Given the description of an element on the screen output the (x, y) to click on. 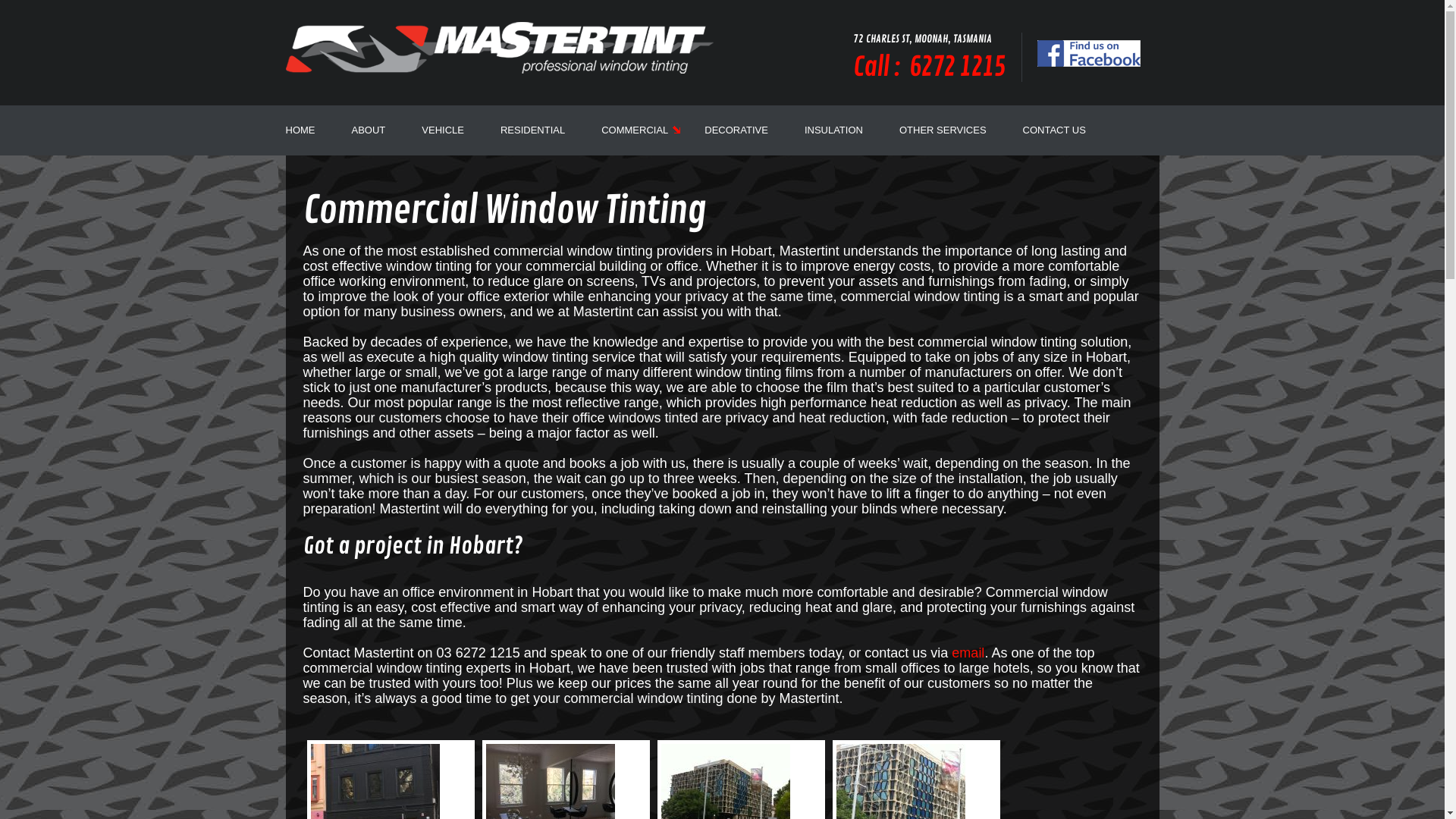
CONTACT US Element type: text (1053, 130)
email Element type: text (967, 652)
RESIDENTIAL Element type: text (532, 130)
VEHICLE Element type: text (442, 130)
COMMERCIAL Element type: text (634, 130)
INSULATION Element type: text (833, 130)
HOME Element type: text (299, 130)
DECORATIVE Element type: text (736, 130)
ABOUT Element type: text (368, 130)
OTHER SERVICES Element type: text (942, 130)
Call :  6272 1215 Element type: text (928, 67)
